Given the description of an element on the screen output the (x, y) to click on. 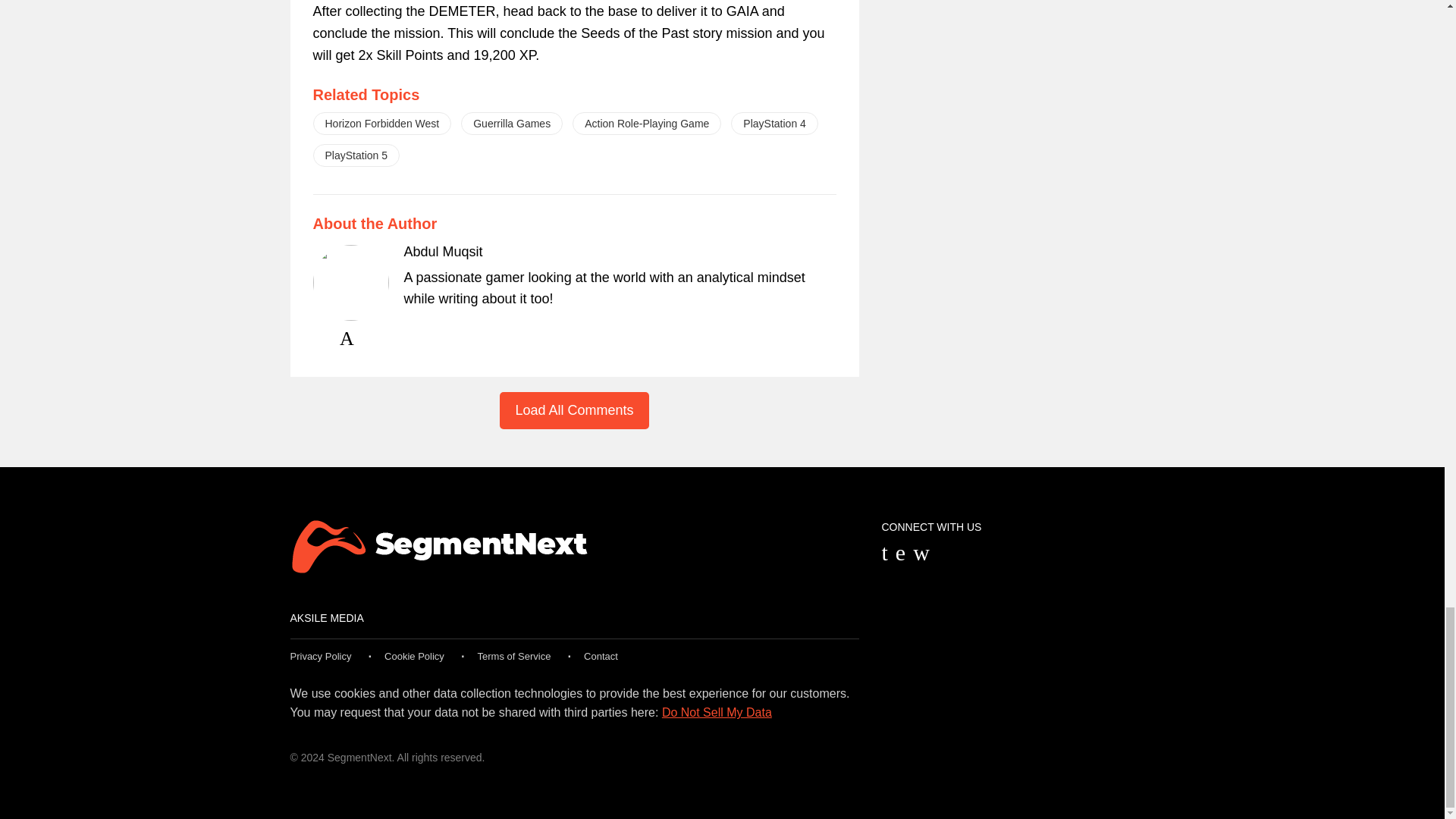
Action Role-Playing Game (646, 123)
Guerrilla Games (511, 123)
PlayStation 5 (355, 155)
Abdul Muqsit (442, 251)
Horizon Forbidden West (382, 123)
Load All Comments (573, 410)
Abdul Muqsit (442, 251)
PlayStation 4 (774, 123)
